Given the description of an element on the screen output the (x, y) to click on. 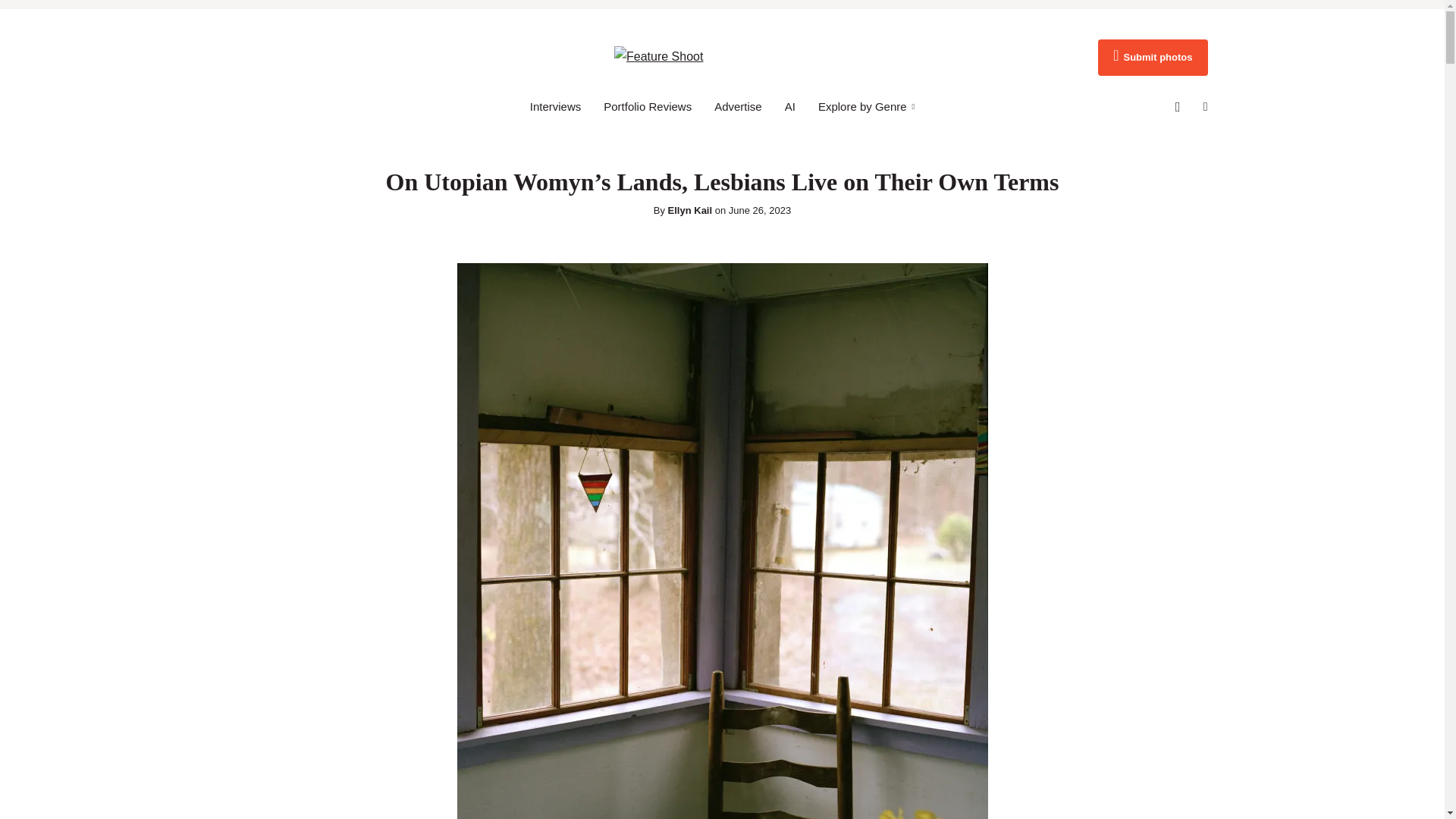
Portfolio Reviews (647, 106)
Interviews (554, 106)
Submit photos (1152, 57)
Advertise (737, 106)
Posts by Ellyn Kail (690, 210)
Ellyn Kail (690, 210)
Explore by Genre (866, 106)
